Given the description of an element on the screen output the (x, y) to click on. 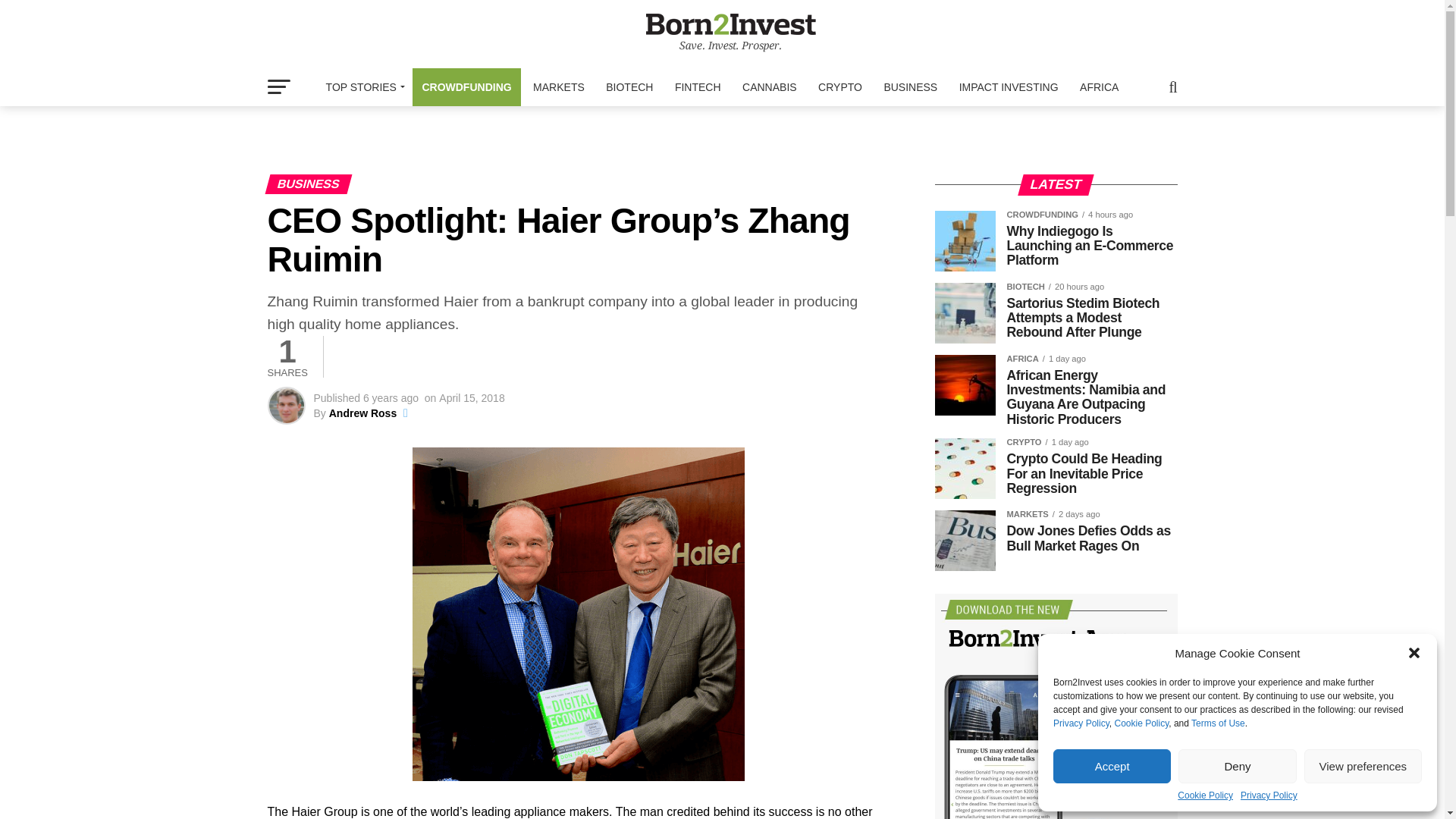
MARKETS (559, 86)
Privacy Policy (1268, 795)
Cookie Policy (1205, 795)
TOP STORIES (363, 86)
CANNABIS (769, 86)
Terms of Use (1217, 723)
Deny (1236, 765)
Accept (1111, 765)
Posts by Andrew Ross (362, 413)
Cookie Policy (1141, 723)
Privacy Policy (1080, 723)
CROWDFUNDING (465, 86)
FINTECH (697, 86)
BIOTECH (629, 86)
View preferences (1363, 765)
